Given the description of an element on the screen output the (x, y) to click on. 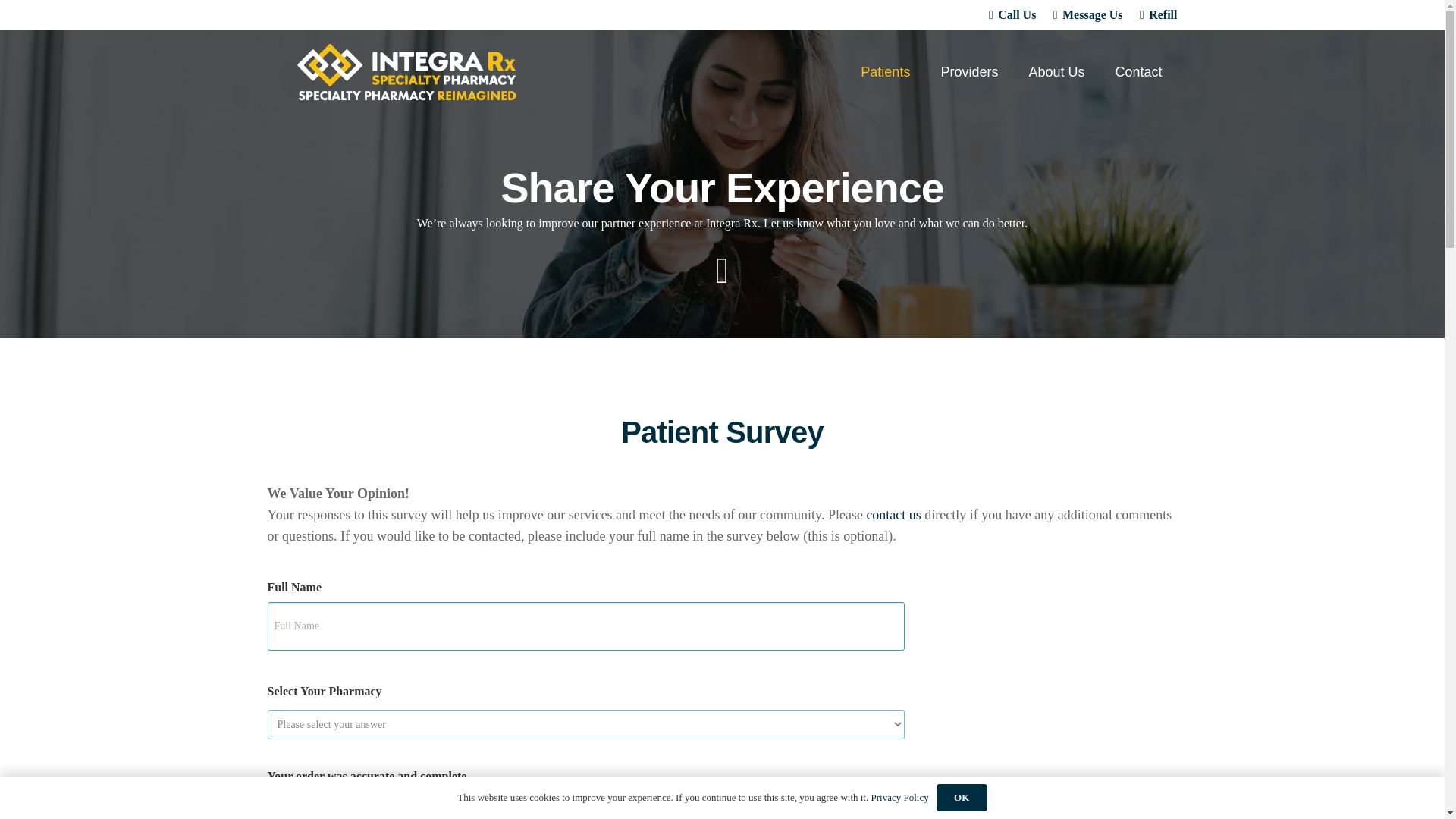
2 (347, 805)
Contact (1137, 71)
Message Us (1087, 14)
1 (311, 805)
contact us (893, 514)
Call Us (1011, 14)
Providers (968, 71)
0 (273, 805)
About Us (1056, 71)
4 (421, 805)
3 (385, 805)
Refill (1158, 14)
Patients (884, 71)
